Given the description of an element on the screen output the (x, y) to click on. 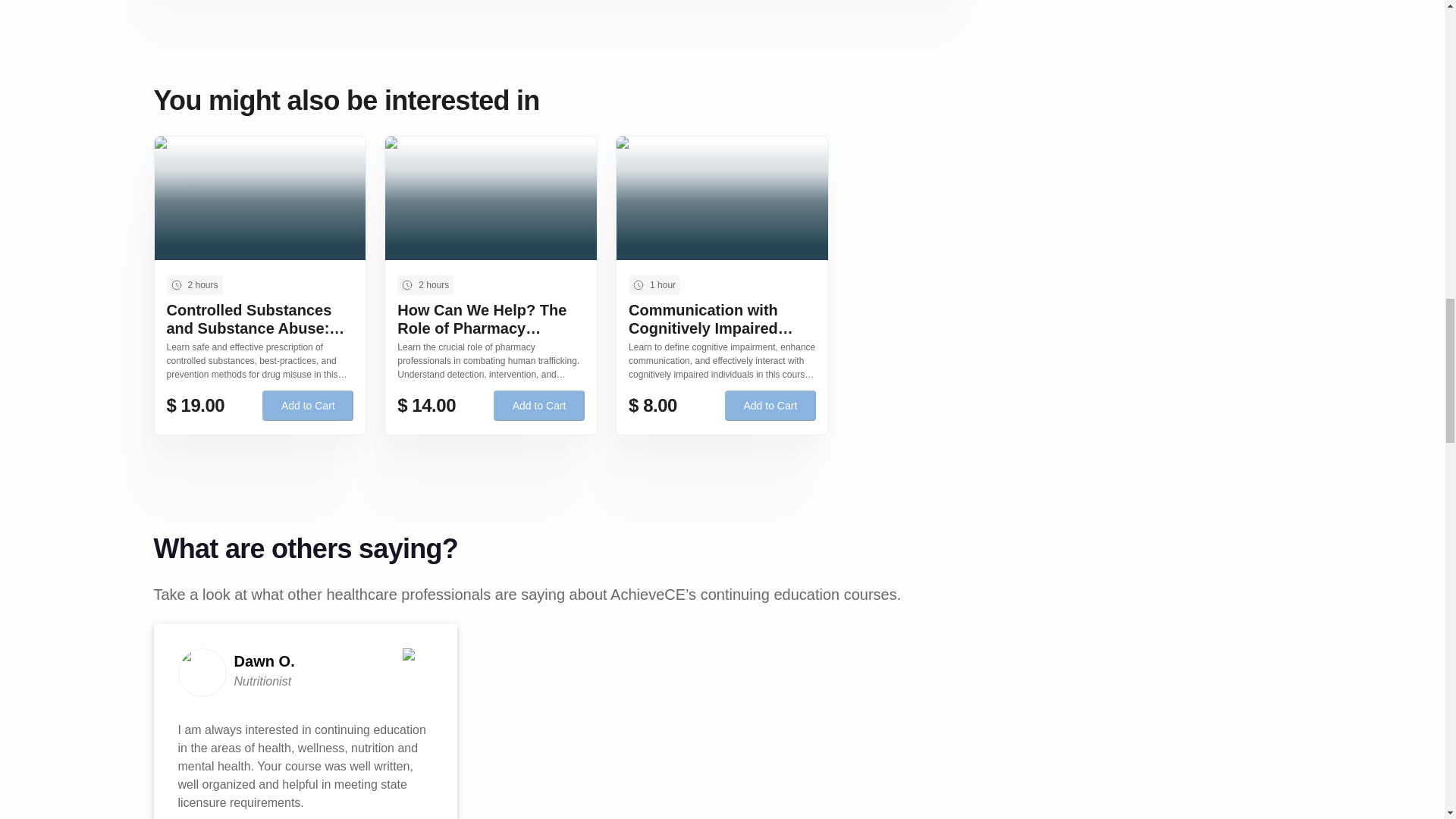
Add to Cart (307, 405)
Add to Cart (539, 405)
Add to Cart (770, 405)
